Given the description of an element on the screen output the (x, y) to click on. 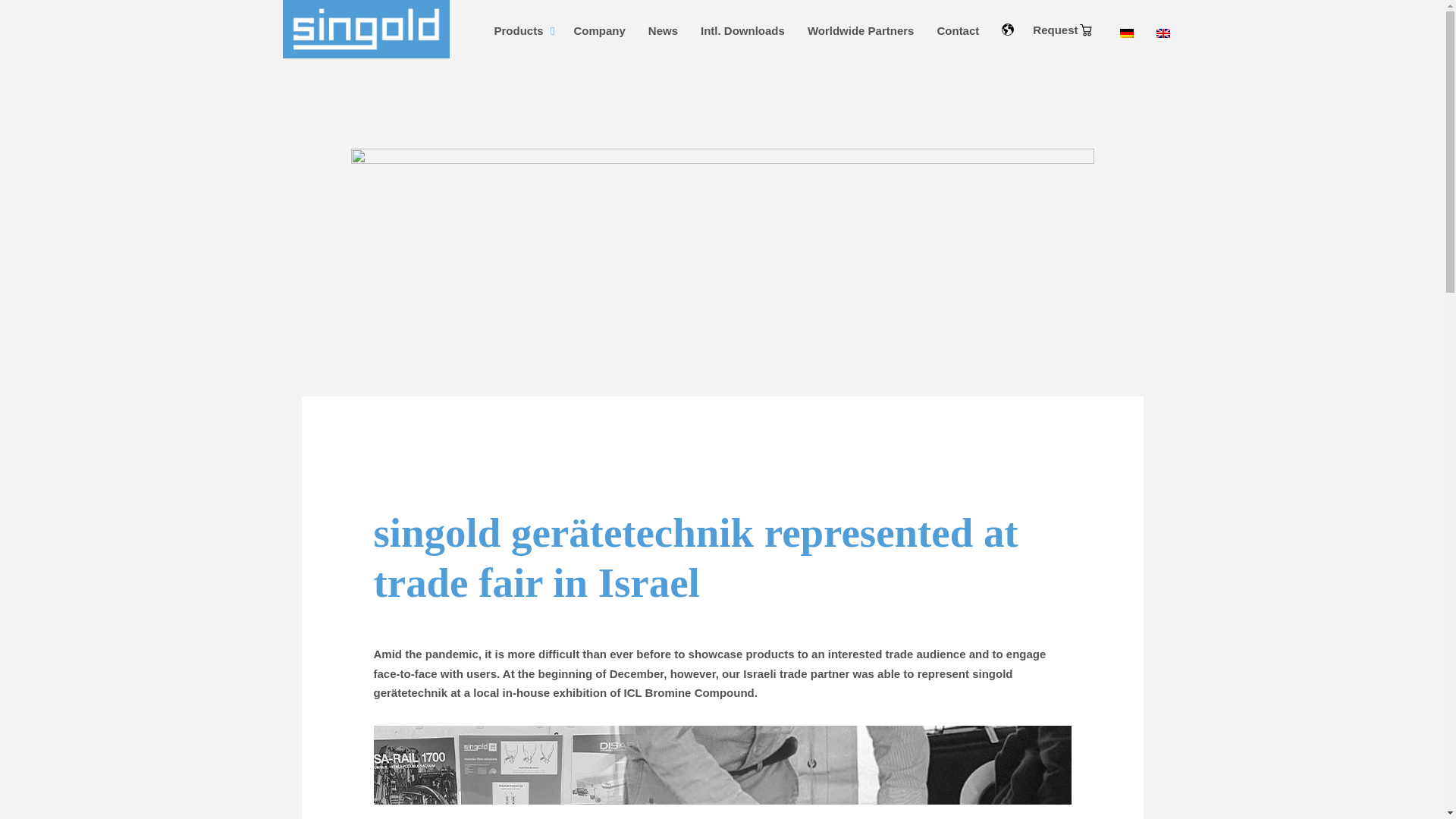
Company (599, 30)
Contact (957, 30)
Request (1062, 30)
News (662, 30)
Products (521, 30)
Intl. Downloads (742, 30)
Global (1085, 29)
Worldwide Partners (861, 30)
